Given the description of an element on the screen output the (x, y) to click on. 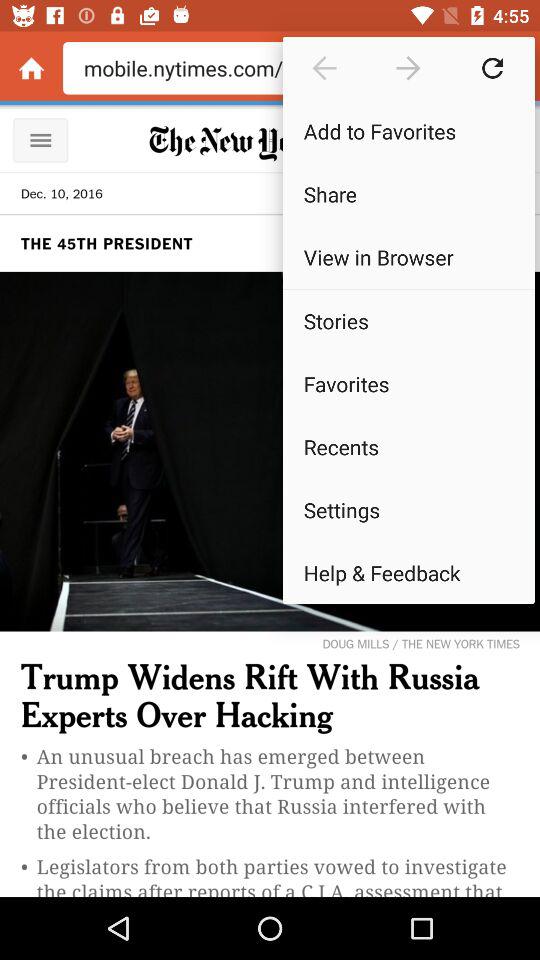
turn on the stories item (408, 320)
